Given the description of an element on the screen output the (x, y) to click on. 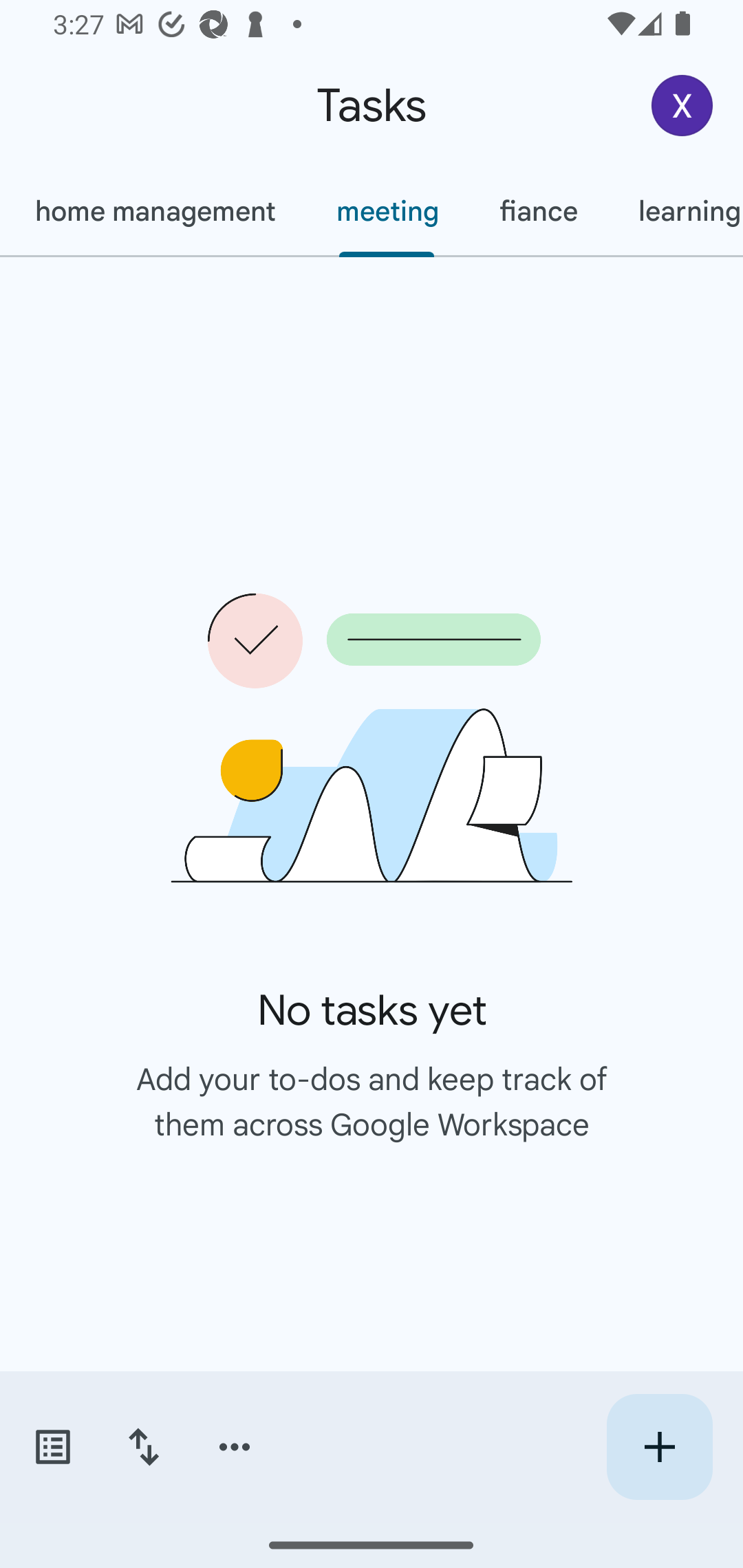
home management (154, 211)
fiance (537, 211)
learning (675, 211)
Switch task lists (52, 1447)
Create new task (659, 1446)
Change sort order (143, 1446)
More options (234, 1446)
